Given the description of an element on the screen output the (x, y) to click on. 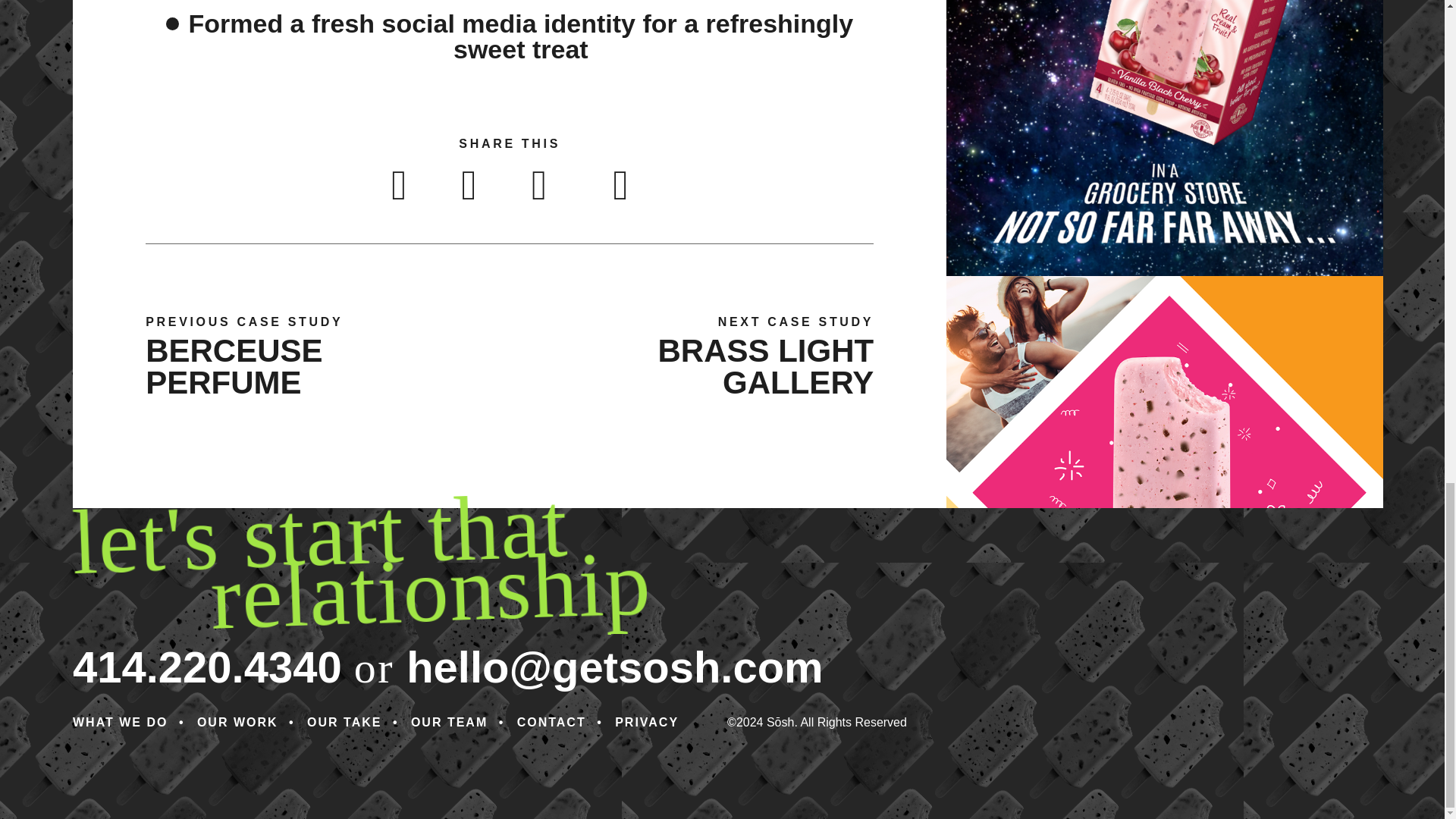
Twitter (468, 184)
OUR TAKE (344, 721)
Our Take (344, 721)
Our Work (237, 721)
CONTACT (551, 721)
OUR TEAM (448, 721)
414.220.4340 (207, 666)
Facebook (398, 184)
Contact (551, 721)
What We Do (119, 721)
Our Team (448, 721)
BRASS LIGHT GALLERY (766, 366)
WHAT WE DO (119, 721)
BERCEUSE PERFUME (233, 366)
LinkedIn (538, 184)
